Given the description of an element on the screen output the (x, y) to click on. 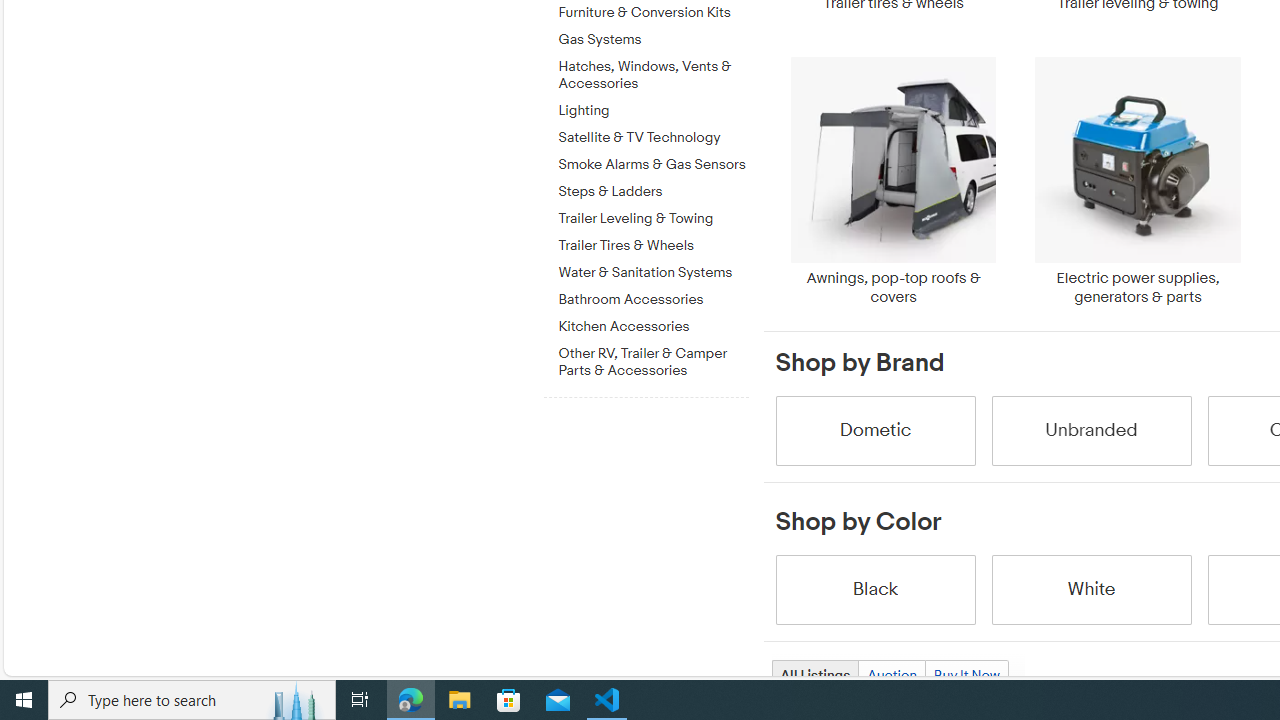
Go to previous slide (775, 430)
All Listings Current view (814, 674)
Trailer Tires & Wheels (653, 242)
Trailer Tires & Wheels (653, 246)
Black (874, 588)
Buy It Now (966, 674)
Other RV, Trailer & Camper Parts & Accessories (653, 358)
Dometic (874, 430)
Hatches, Windows, Vents & Accessories (653, 71)
Hatches, Windows, Vents & Accessories (653, 76)
Bathroom Accessories (653, 300)
Unbranded (1090, 430)
Satellite & TV Technology (653, 138)
Auction (891, 674)
Black (874, 588)
